Given the description of an element on the screen output the (x, y) to click on. 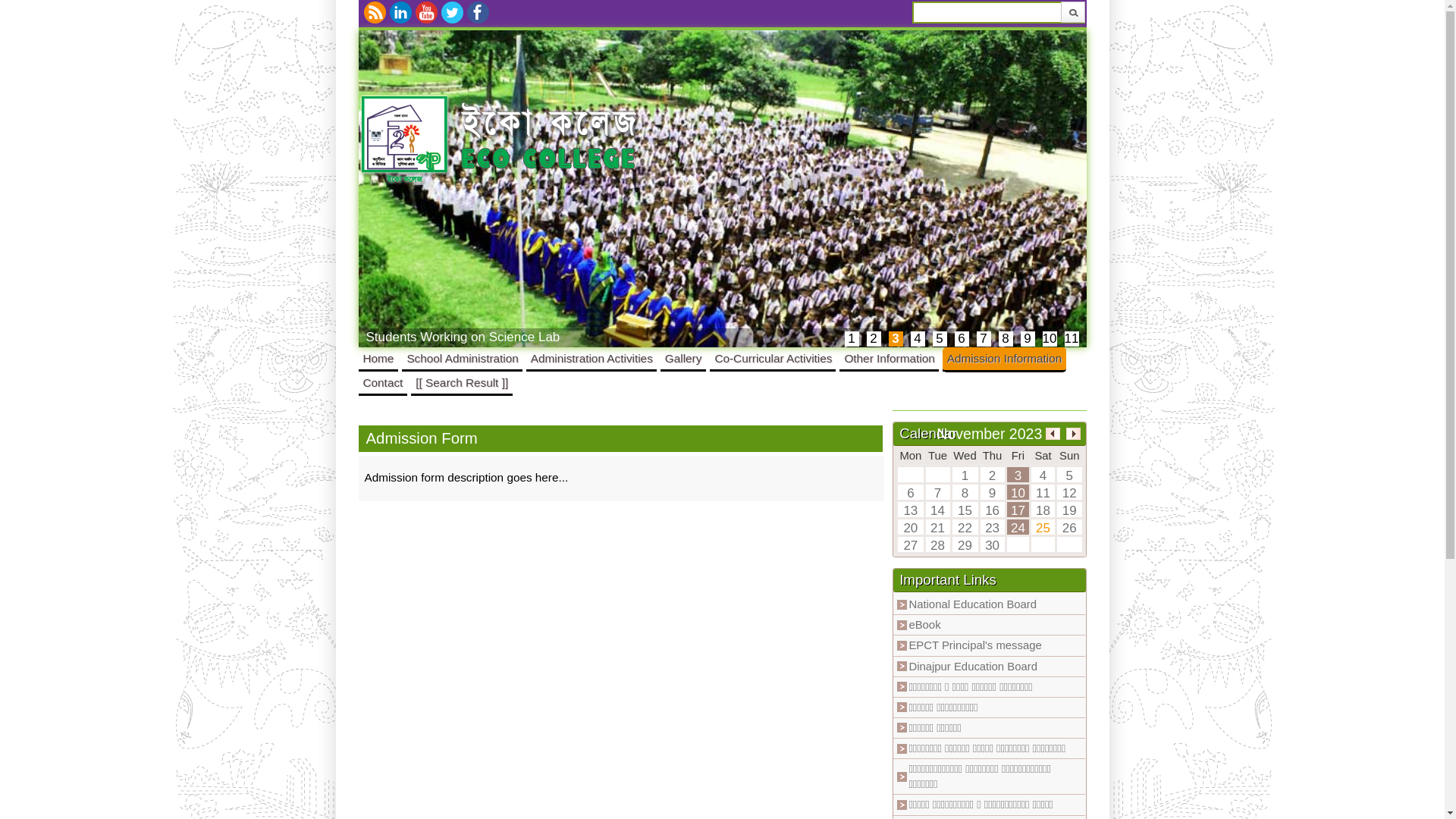
Dinajpur Education Board Element type: text (972, 666)
National Education Board Element type: text (972, 604)
School Administration Element type: text (461, 358)
Admission Information Element type: text (1004, 358)
5 Element type: text (939, 338)
Other Information Element type: text (888, 358)
Home Element type: text (377, 358)
EPCT Principal's message Element type: text (974, 645)
Contact Element type: text (382, 382)
Co-Curricular Activities Element type: text (772, 358)
Administration Activities Element type: text (591, 358)
1 Element type: text (851, 338)
8 Element type: text (1004, 338)
4 Element type: text (917, 338)
7 Element type: text (983, 338)
eBook Element type: text (924, 624)
Gallery Element type: text (683, 358)
Submit Element type: text (1072, 11)
3 Element type: text (895, 338)
2 Element type: text (873, 338)
10 Element type: text (1048, 338)
[[ Search Result ]] Element type: text (461, 382)
9 Element type: text (1027, 338)
11 Element type: text (1071, 338)
6 Element type: text (960, 338)
